Given the description of an element on the screen output the (x, y) to click on. 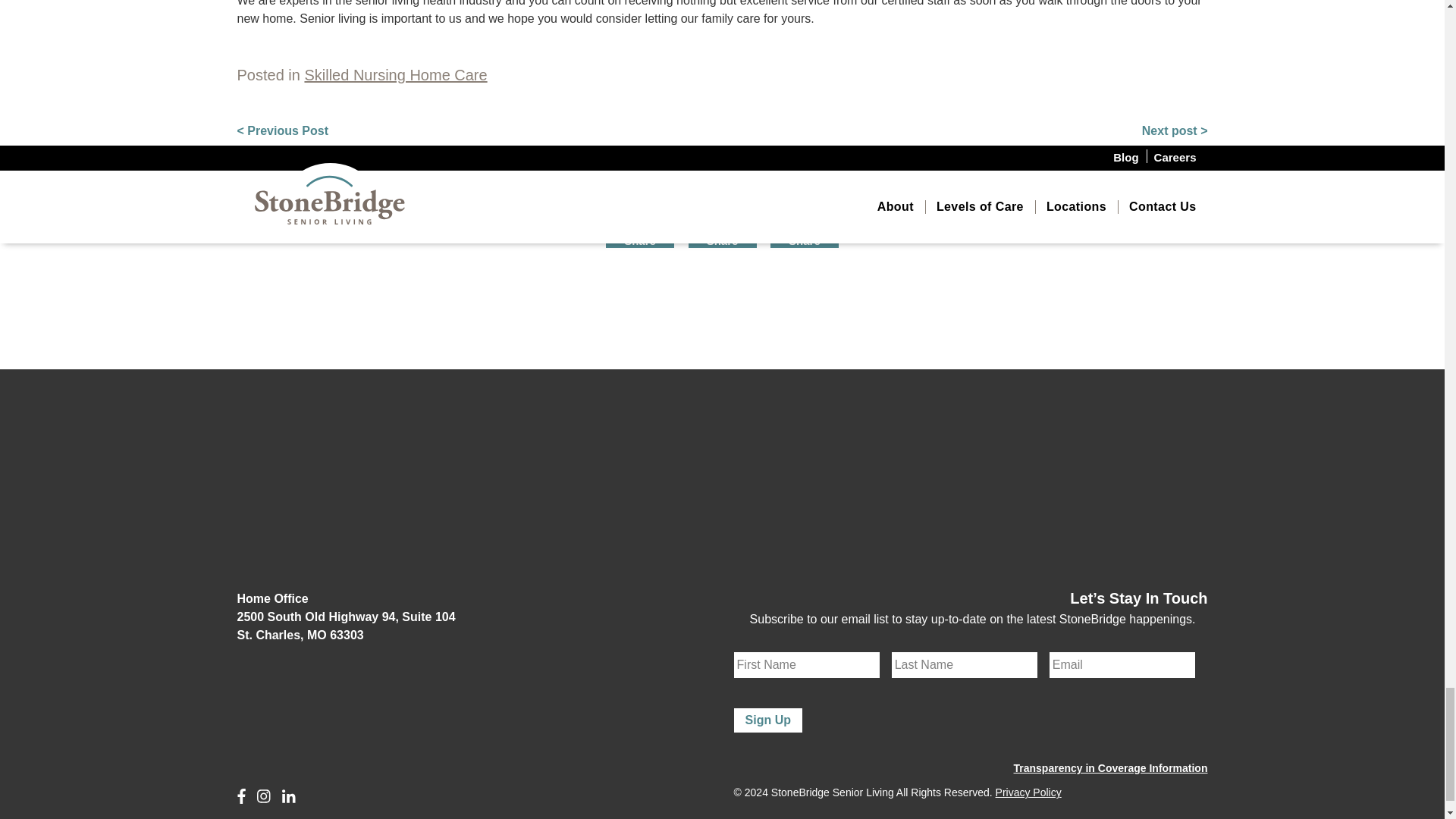
Sign Up (767, 720)
